Given the description of an element on the screen output the (x, y) to click on. 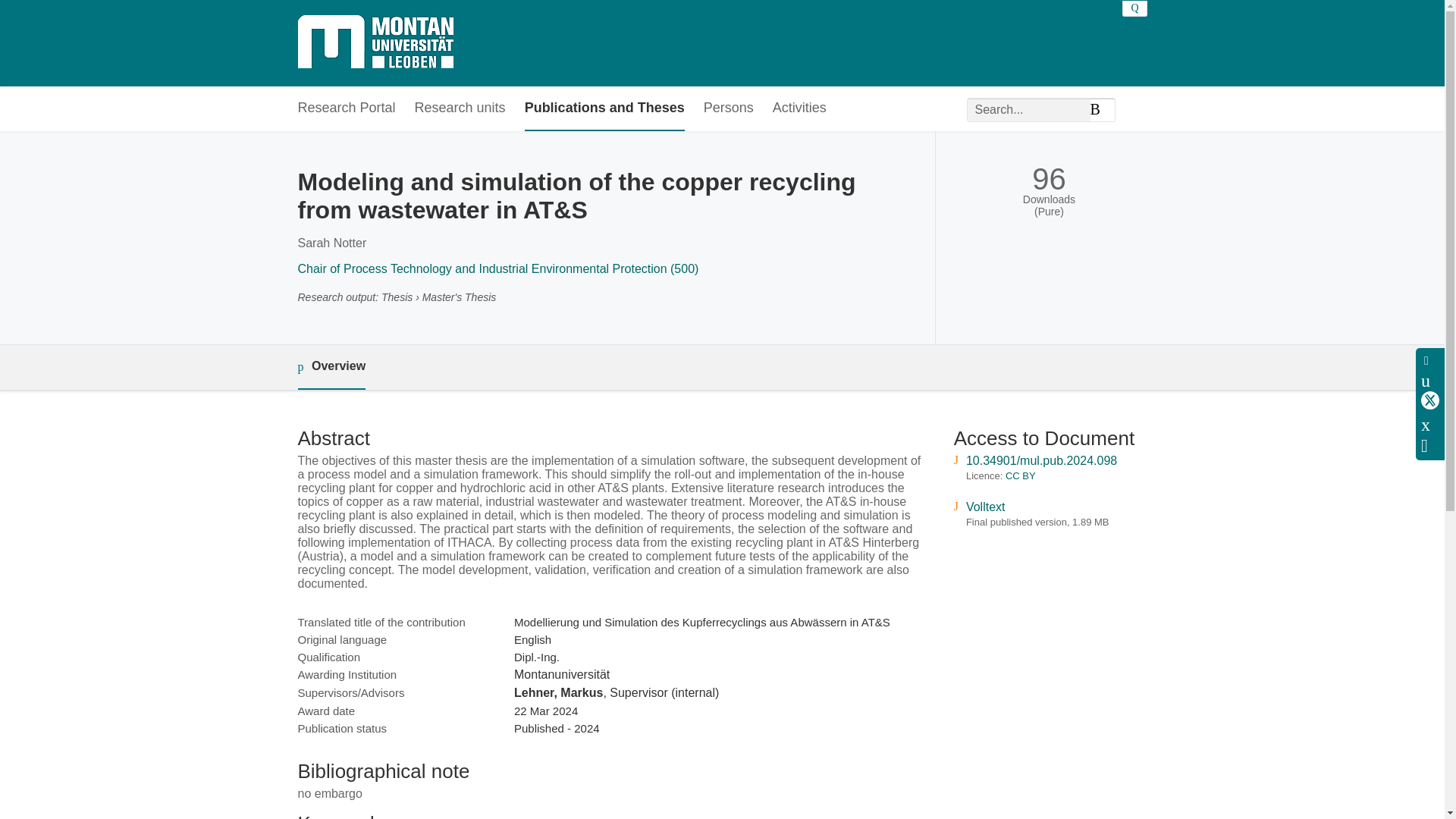
Volltext (986, 506)
CC BY (1020, 475)
Research units (459, 108)
Activities (800, 108)
Research Portal (345, 108)
Overview (331, 366)
Persons (728, 108)
Publications and Theses (604, 108)
